Given the description of an element on the screen output the (x, y) to click on. 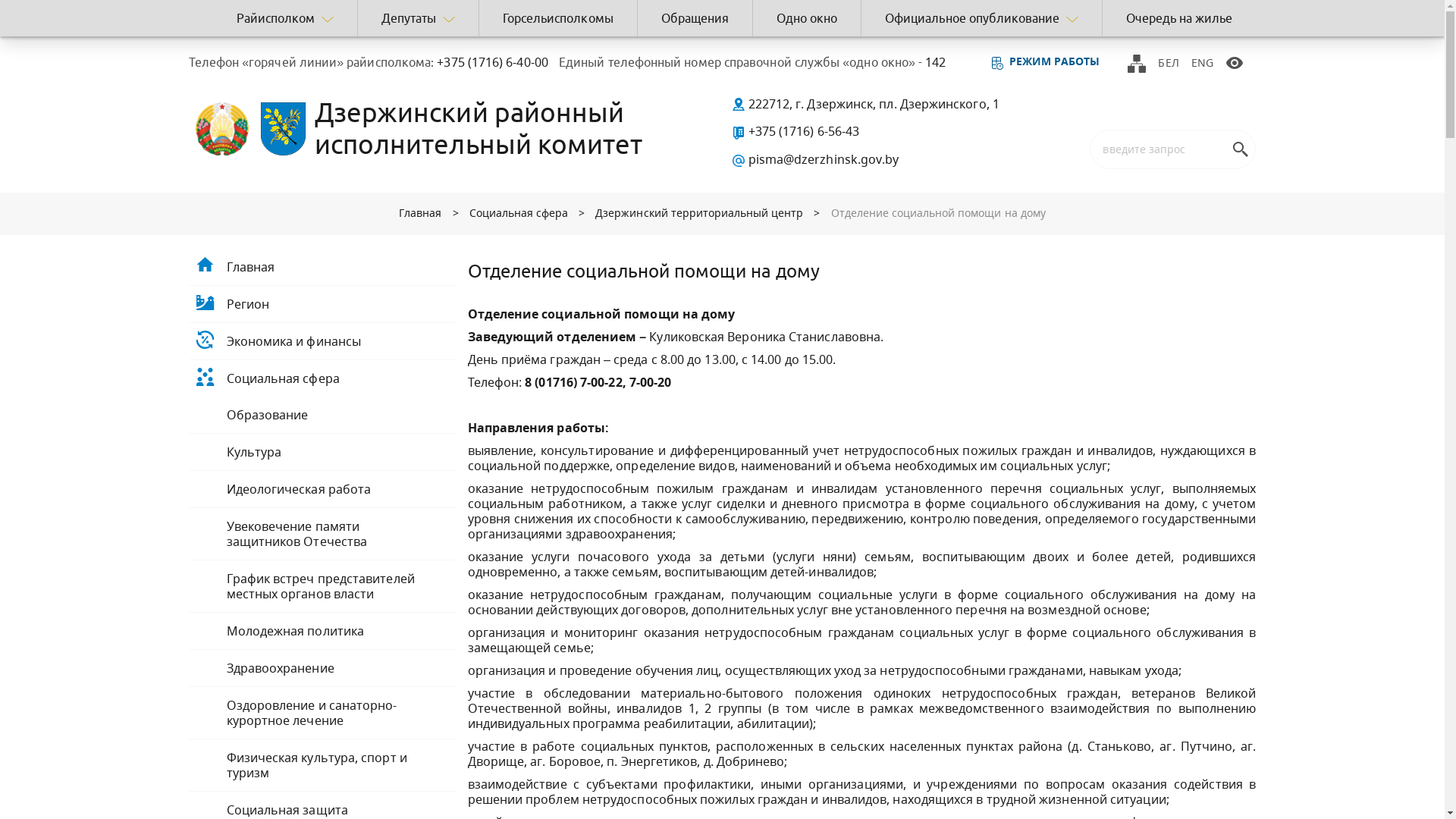
142 Element type: text (933, 61)
+375 (1716) 6-40-00 Element type: text (490, 61)
pisma@dzerzhinsk.gov.by Element type: text (814, 158)
ENG Element type: text (1202, 62)
+375 (1716) 6-56-43 Element type: text (795, 130)
